Given the description of an element on the screen output the (x, y) to click on. 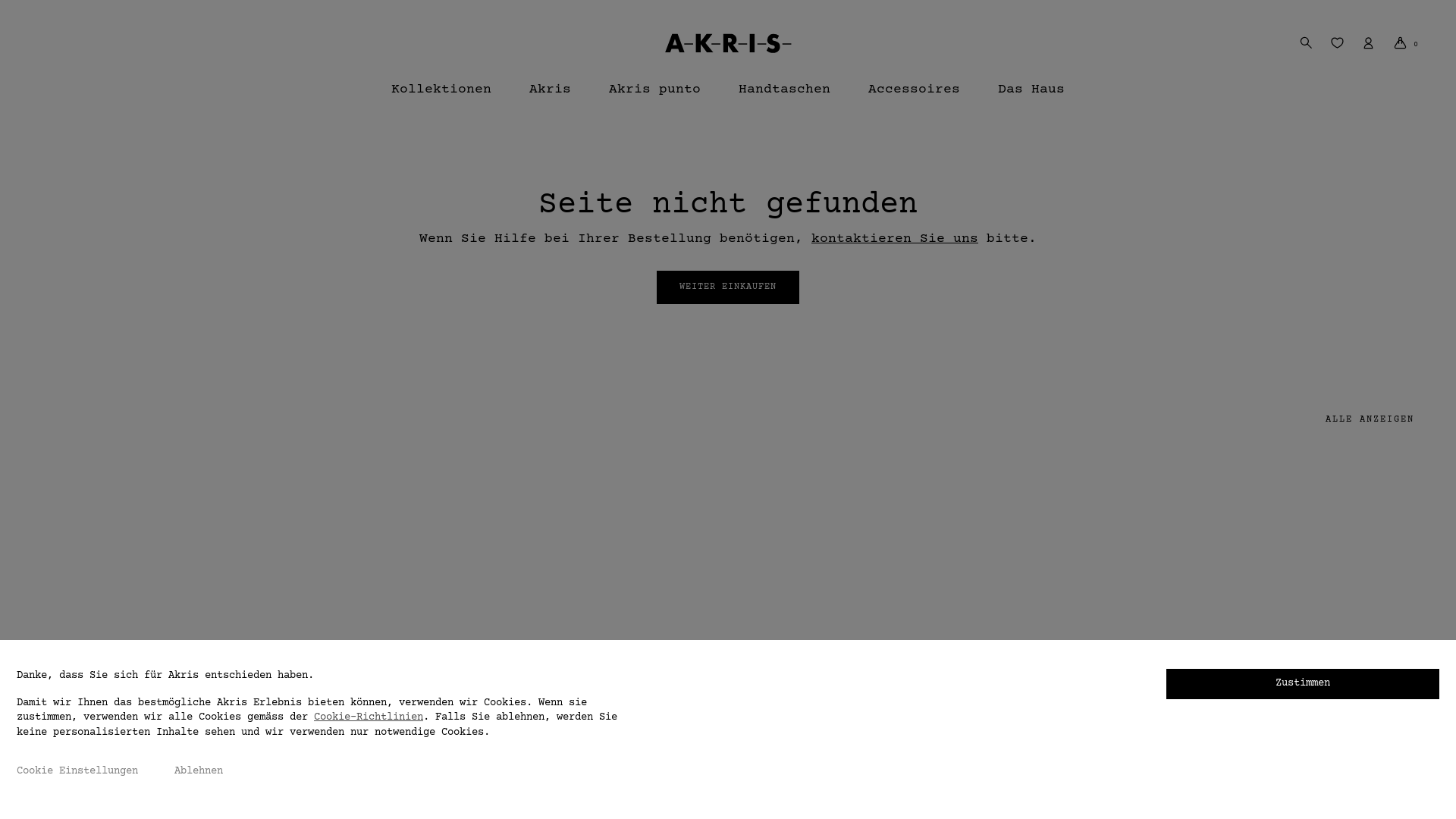
Cookie Einstellungen Element type: text (77, 771)
Facebook Element type: text (662, 553)
WEITER EINKAUFEN Element type: text (727, 287)
Handtaschen Element type: text (784, 95)
Cookies Element type: text (377, 581)
Ablehnen Element type: text (198, 771)
Newsletter abonnieren Element type: text (254, 637)
Akris AG Element type: text (533, 553)
Jetzt abonnieren Element type: text (1160, 614)
Versand Element type: text (58, 609)
0 Element type: text (1405, 42)
Partner Element type: text (530, 609)
Datenschutz Element type: text (389, 609)
Accessoires Element type: text (914, 95)
Selber Masse nehmen Element type: text (95, 693)
Akris punto Element type: text (654, 95)
Akris Logo Back Homepage Element type: hover (727, 42)
Pflege Element type: text (55, 637)
Retouren Element type: text (61, 665)
Wunschliste ansehen Element type: hover (1337, 42)
Log in Element type: text (1184, 218)
Kontakt Element type: text (58, 581)
Akris Element type: text (550, 95)
Zustimmen Element type: text (1302, 683)
Boutique Services Element type: text (242, 553)
kontaktieren Sie uns Element type: text (894, 238)
Karriere Element type: text (533, 581)
Cookie-Richtlinien Element type: text (368, 717)
Store Locator Element type: text (230, 609)
Akris Ausstellung Element type: text (242, 665)
ALLE ANZEIGEN Element type: text (1369, 420)
Das Haus Element type: text (1030, 95)
Size Guide Element type: text (67, 721)
Instagram Element type: text (665, 581)
Kollektionen Element type: text (441, 95)
YouTube Element type: text (659, 637)
LinkedIn Element type: text (662, 609)
AGB Element type: text (365, 553)
Liste der Boutiquen Element type: text (248, 581)
Customer Account Element type: hover (1367, 42)
